Given the description of an element on the screen output the (x, y) to click on. 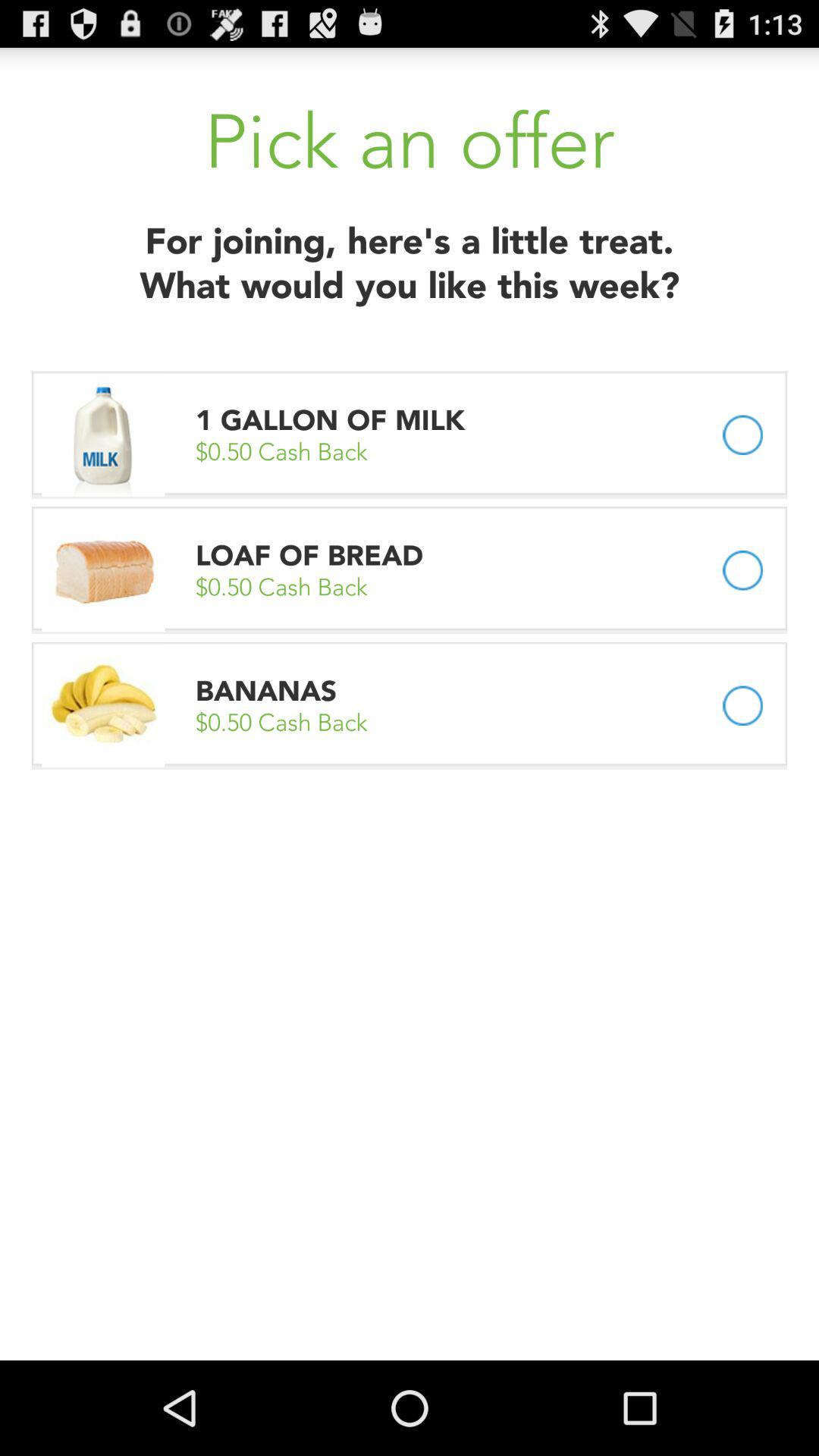
tap the bananas item (265, 690)
